Given the description of an element on the screen output the (x, y) to click on. 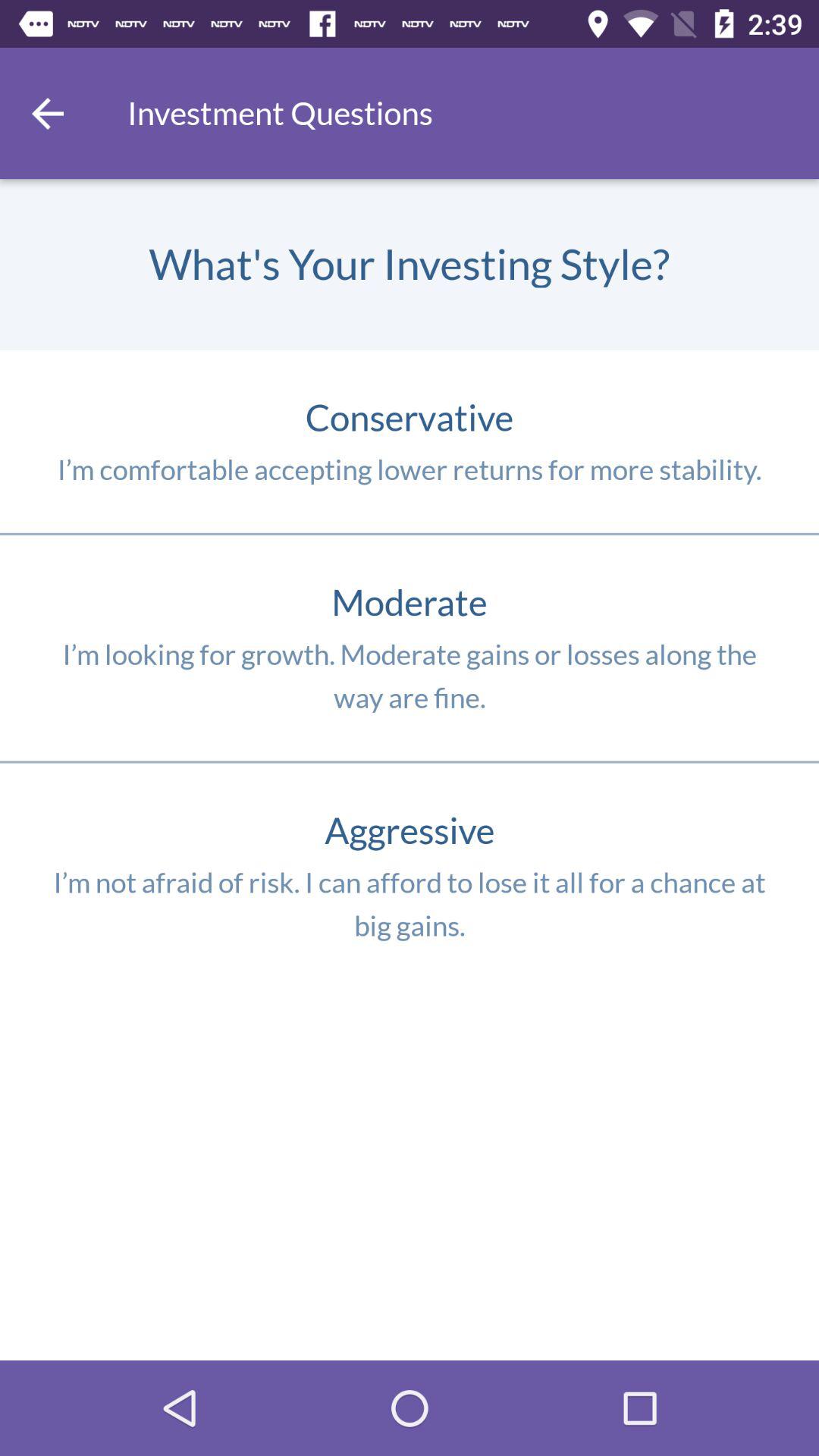
select the item to the left of the investment questions item (47, 113)
